Given the description of an element on the screen output the (x, y) to click on. 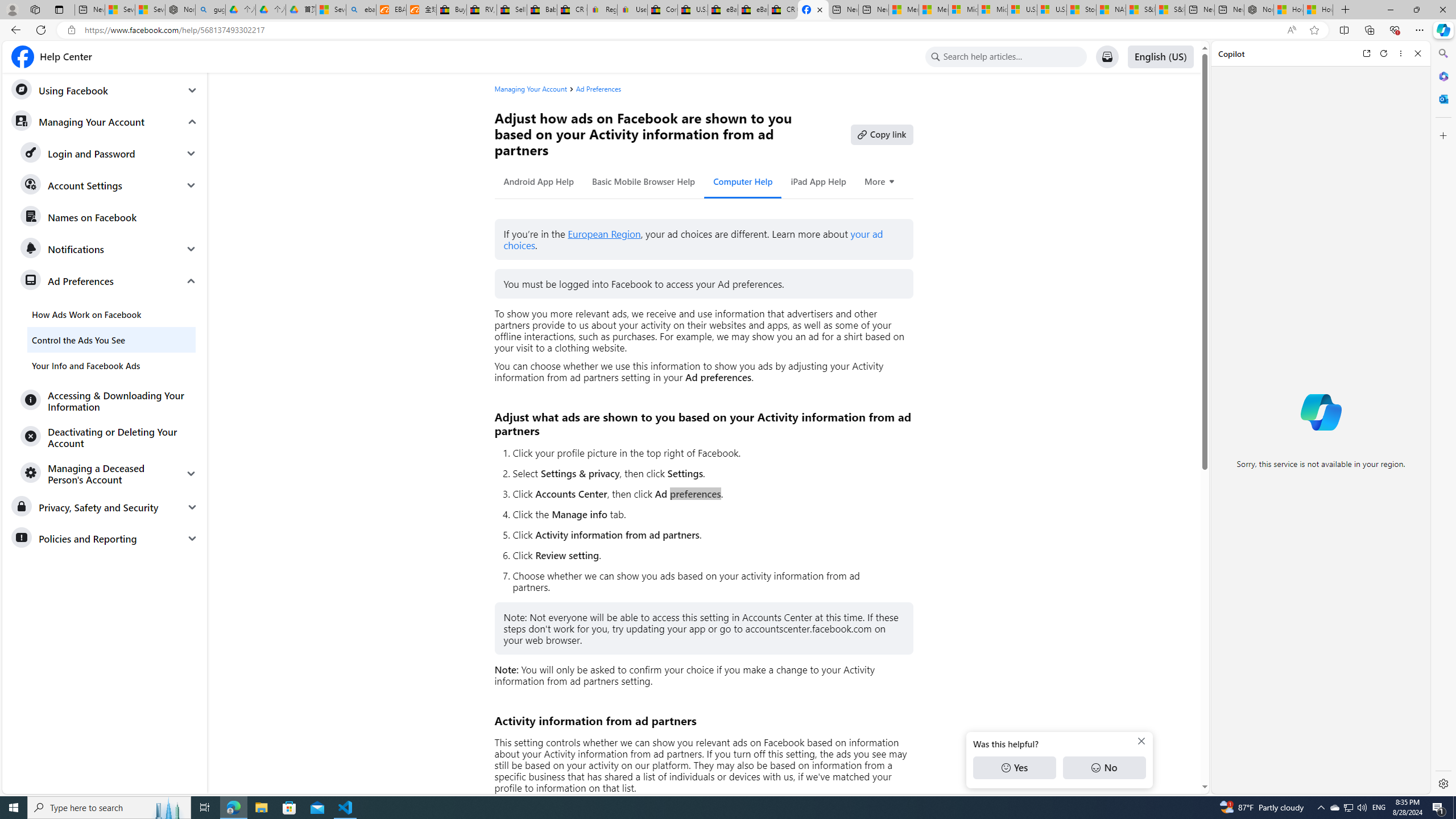
Class: x1lliihq x1tzjh5l x1k90msu x2h7rmj x1qfuztq x19dipnz (22, 56)
Buy Auto Parts & Accessories | eBay (450, 9)
Class: x19dipnz x1lliihq x1tzjh5l x1k90msu x2h7rmj x1qfuztq (935, 56)
Managing Your Account (534, 89)
ebay - Search (360, 9)
Click Accounts Center, then click Ad preferences. (707, 493)
Yes (1013, 767)
eBay Inc. Reports Third Quarter 2023 Results (753, 9)
Basic Mobile Browser Help (643, 181)
